Given the description of an element on the screen output the (x, y) to click on. 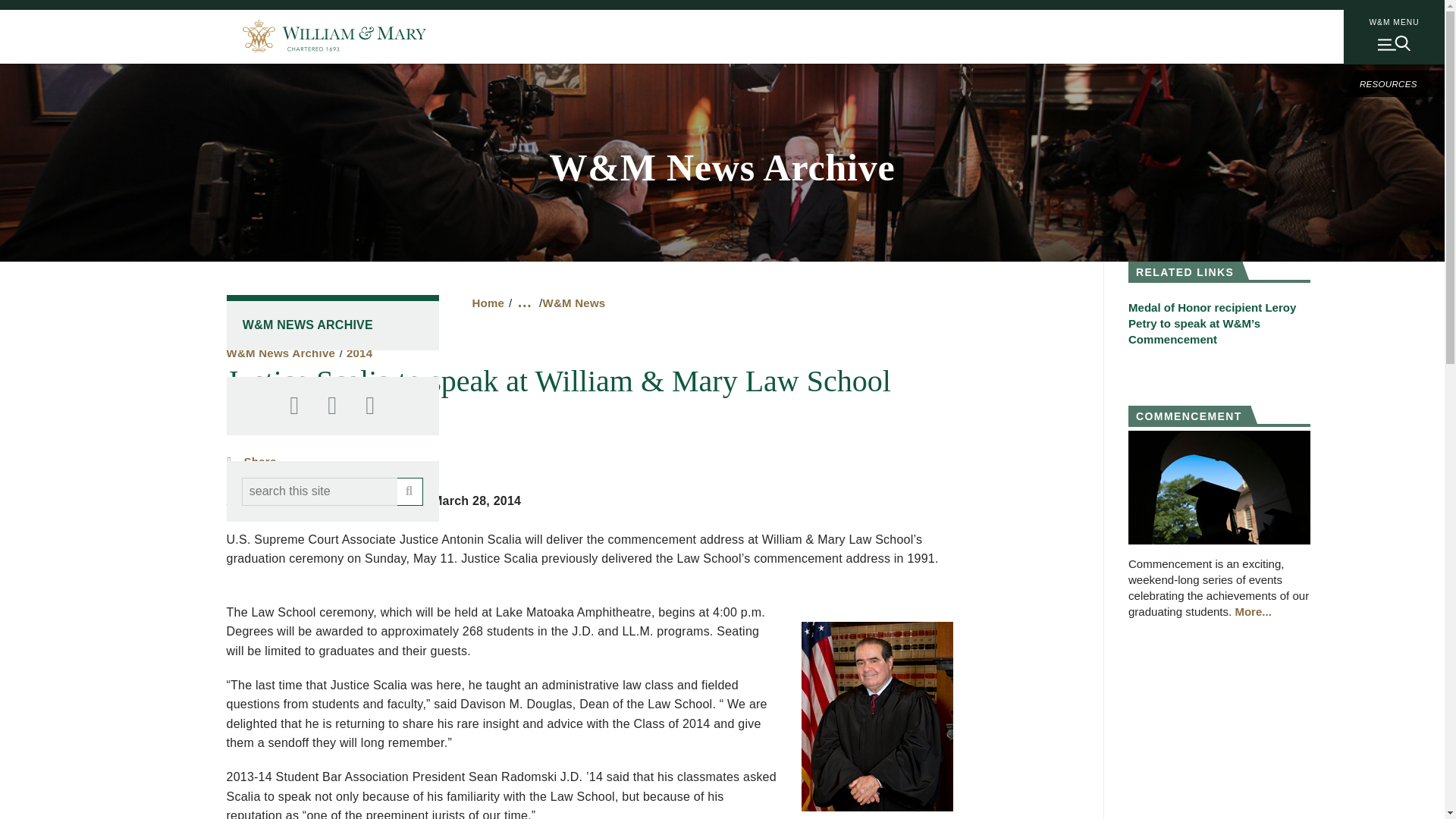
Submit (410, 491)
X (332, 405)
Facebook (294, 405)
YouTube (370, 405)
